Given the description of an element on the screen output the (x, y) to click on. 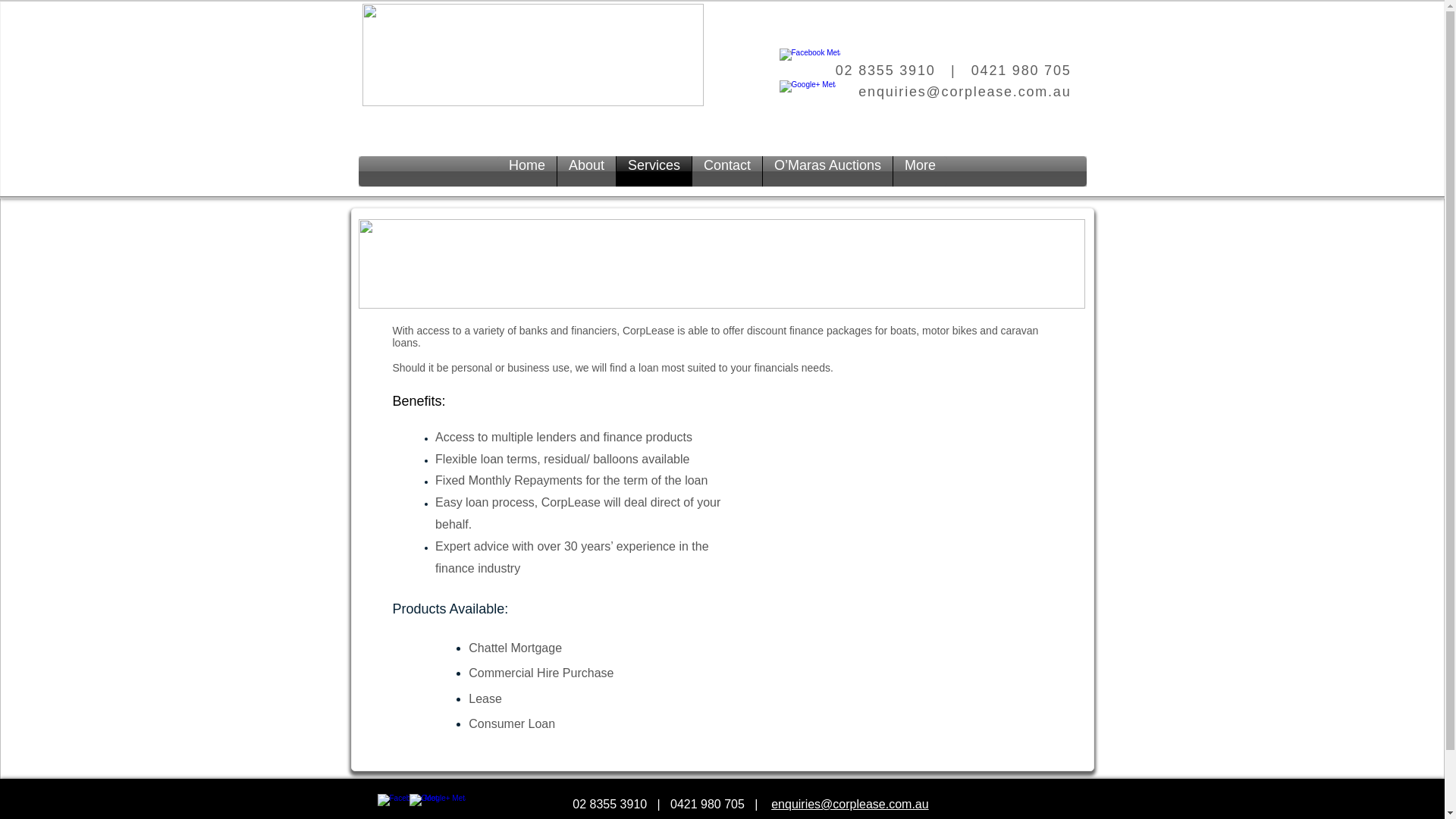
Services Element type: text (653, 171)
Products Available: Element type: text (450, 608)
Home Element type: text (526, 171)
Contact Element type: text (727, 171)
enquiries@corplease.com.au Element type: text (964, 91)
Chattel Mortgage Element type: text (514, 647)
About Element type: text (586, 171)
Lease Element type: text (485, 698)
enquiries@corplease.com.au Element type: text (849, 803)
Commercial Hire Purchase Element type: text (540, 672)
Consumer Loan Element type: text (511, 723)
Boat Bike Caravan Finance Element type: hover (720, 263)
